Given the description of an element on the screen output the (x, y) to click on. 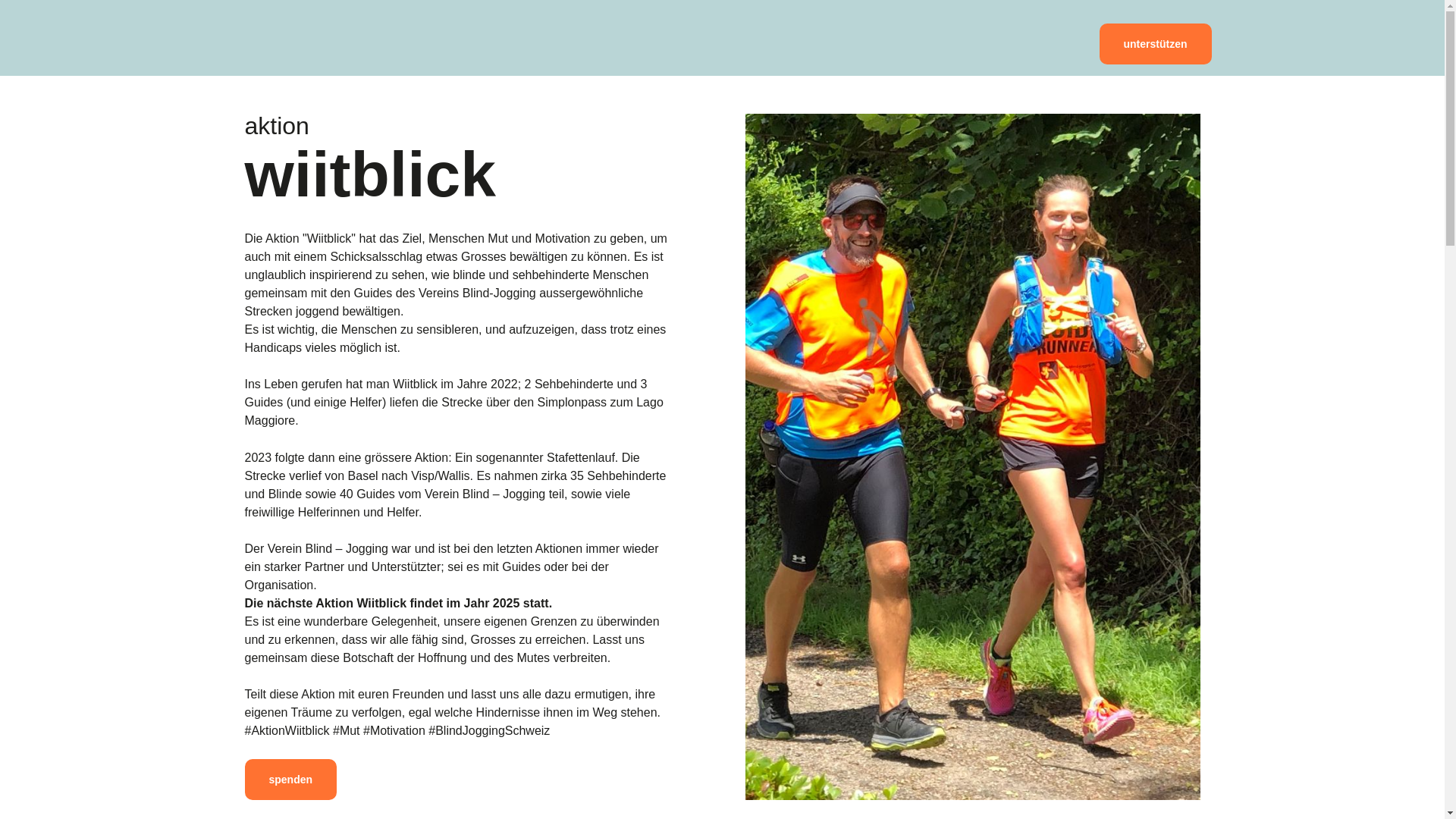
spenden Element type: text (290, 779)
